Given the description of an element on the screen output the (x, y) to click on. 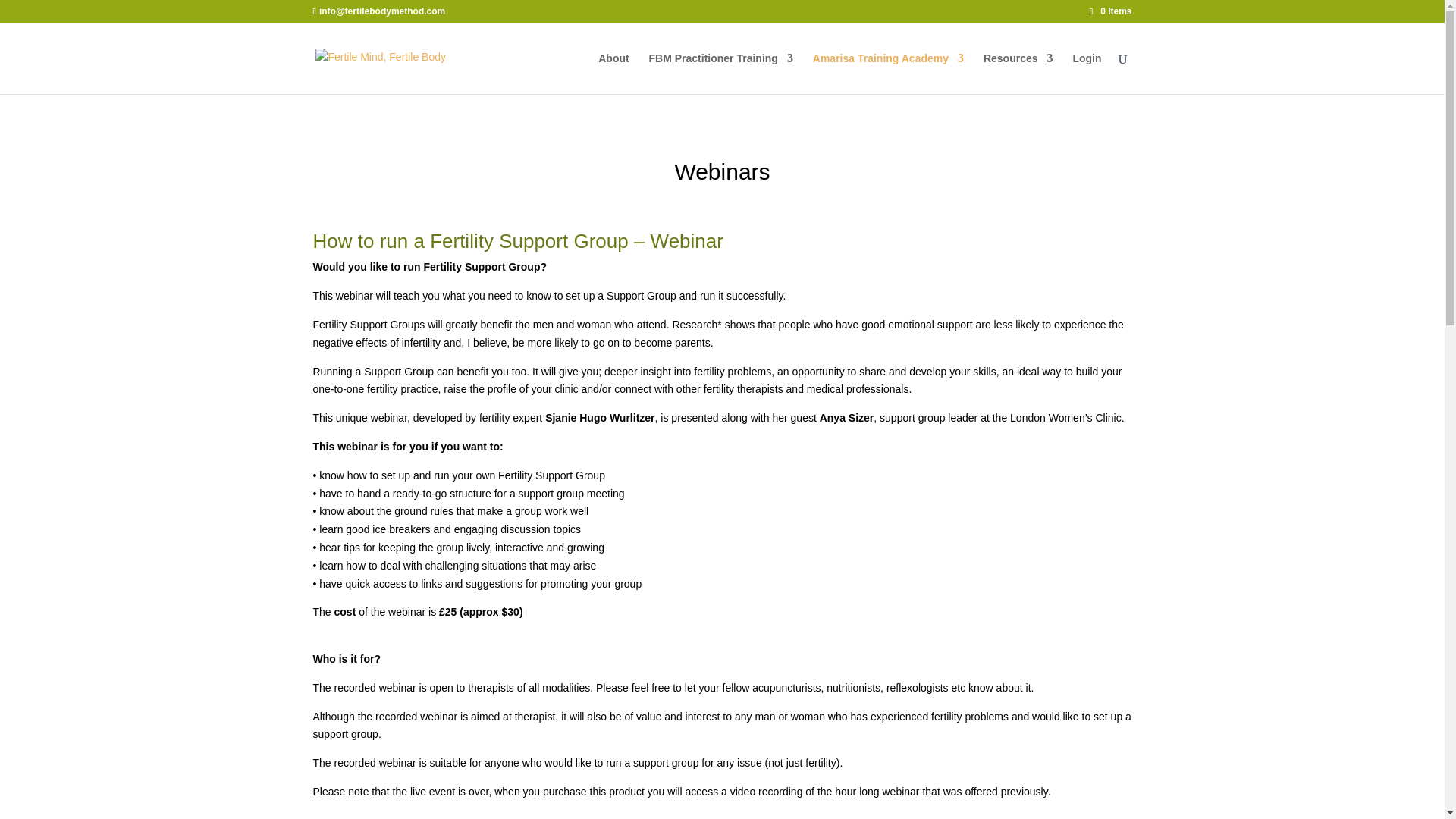
FBM Practitioner Training (721, 73)
About (613, 73)
Resources (1018, 73)
Login (1085, 73)
0 Items (1110, 10)
Amarisa Training Academy (887, 73)
